Given the description of an element on the screen output the (x, y) to click on. 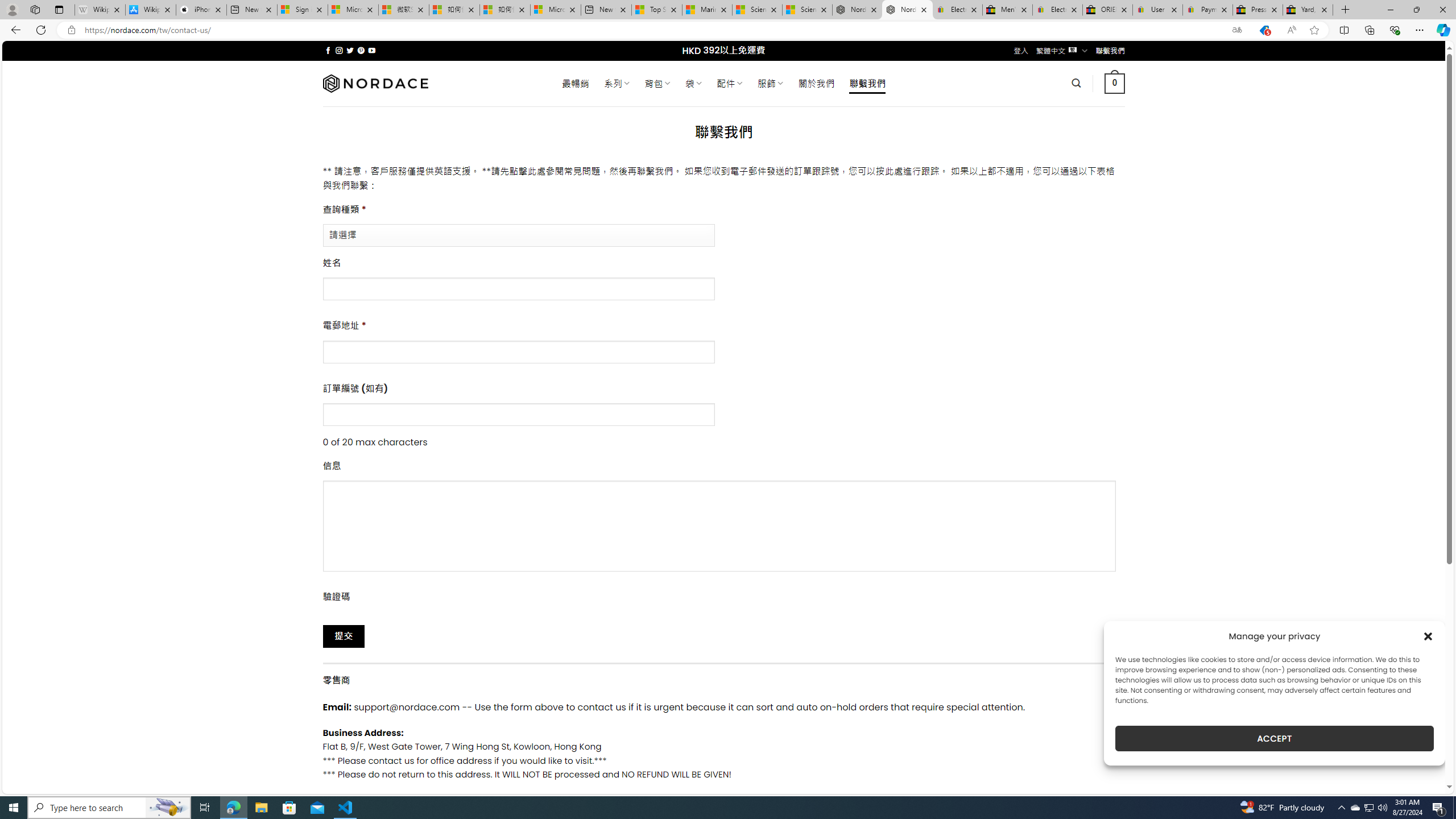
Follow on YouTube (371, 50)
